Given the description of an element on the screen output the (x, y) to click on. 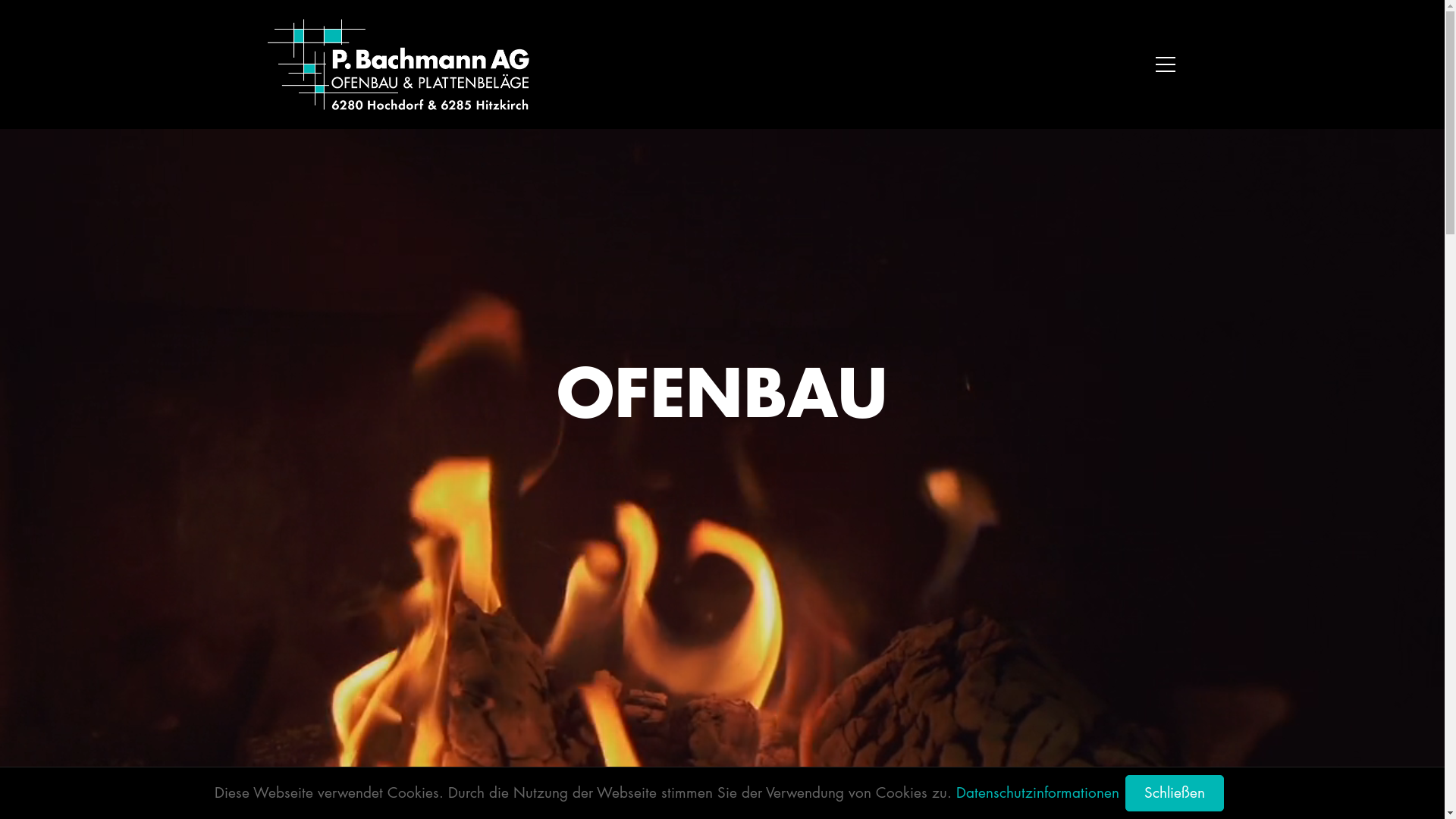
Datenschutzinformationen Element type: text (1037, 792)
Zur Startseite Element type: hover (397, 63)
